Given the description of an element on the screen output the (x, y) to click on. 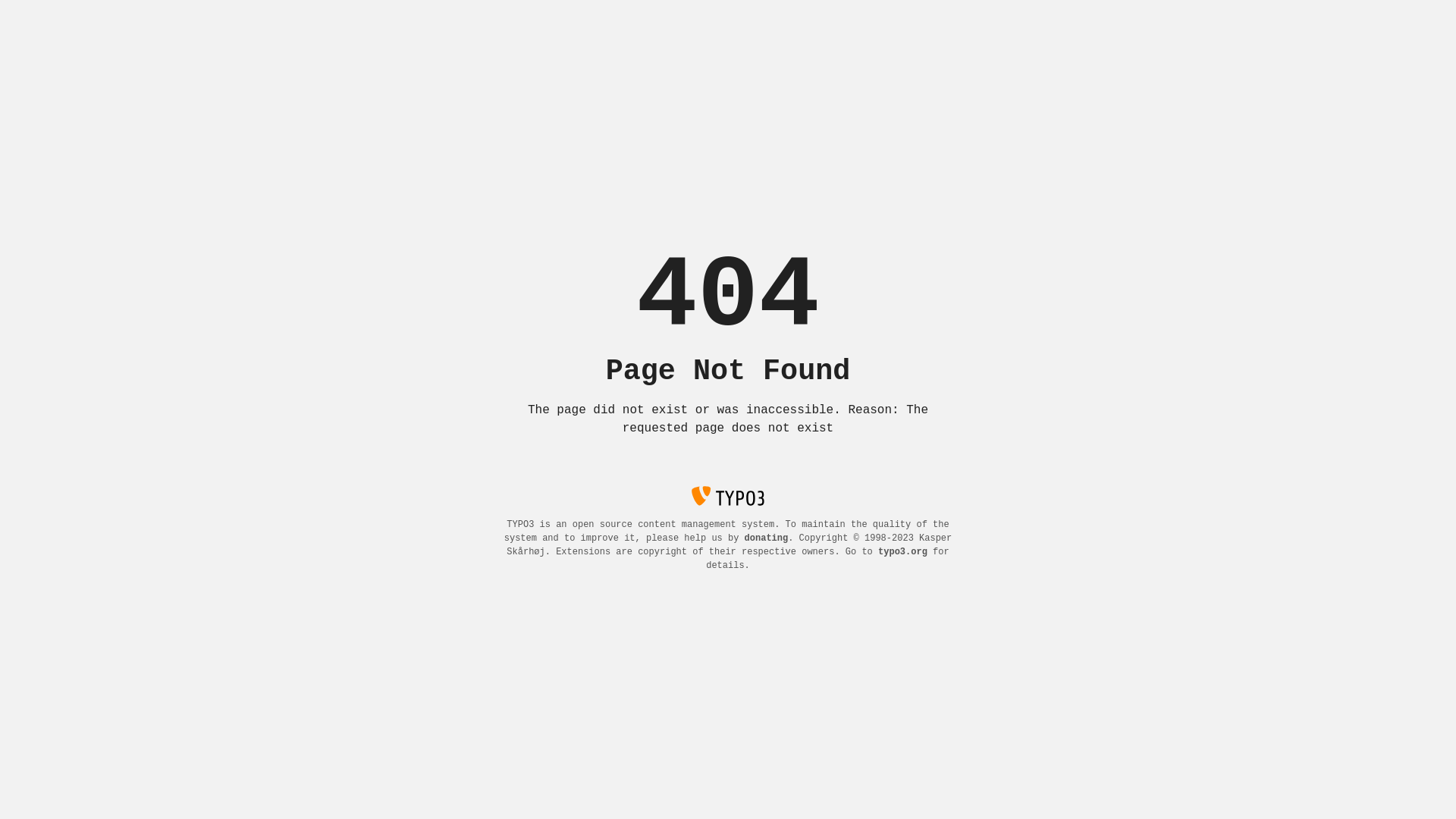
typo3.org Element type: text (902, 551)
donating Element type: text (766, 538)
